Given the description of an element on the screen output the (x, y) to click on. 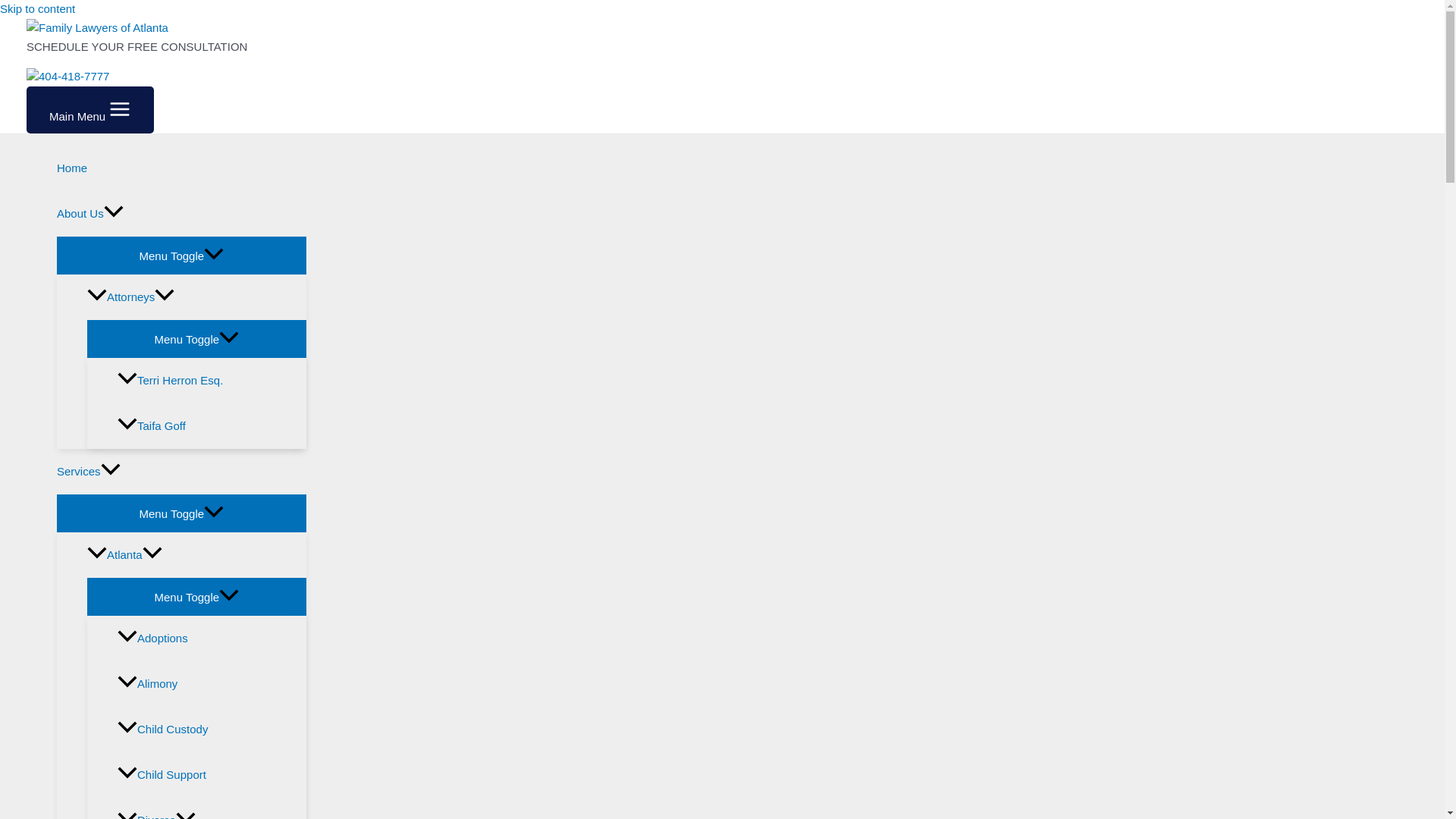
Main Menu (90, 109)
404-418-7777 (67, 75)
Services (180, 471)
About Us (180, 213)
Menu Toggle (196, 338)
Menu Toggle (180, 512)
Skip to content (37, 8)
Alimony (211, 683)
Child Custody (211, 729)
Terri Herron Esq. (211, 380)
